Given the description of an element on the screen output the (x, y) to click on. 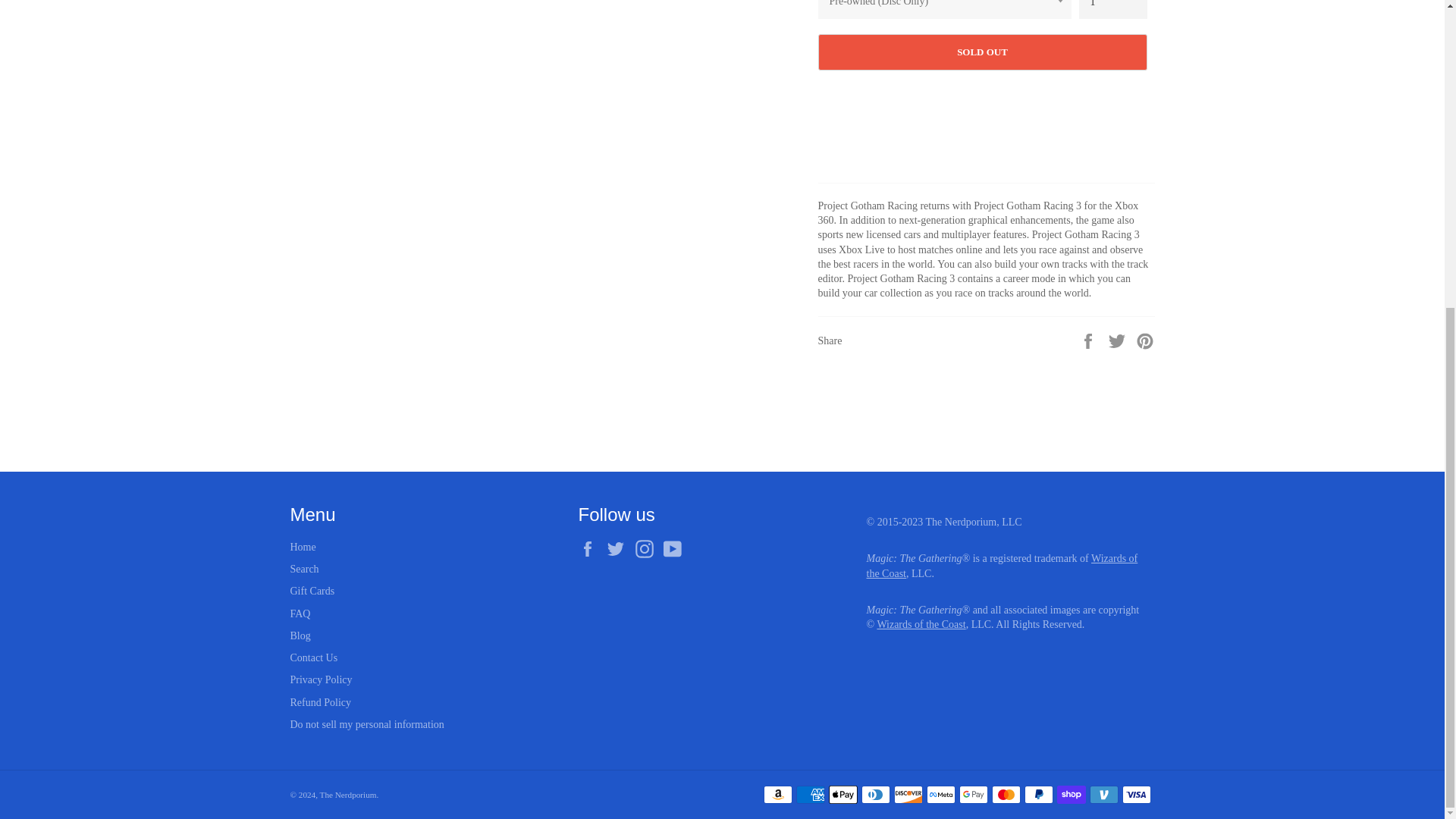
Pin on Pinterest (1144, 339)
1 (1112, 9)
Tweet on Twitter (1118, 339)
The Nerdporium on Twitter (619, 548)
Share on Facebook (1089, 339)
The Nerdporium on Facebook (591, 548)
The Nerdporium on Instagram (647, 548)
The Nerdporium on YouTube (675, 548)
